Given the description of an element on the screen output the (x, y) to click on. 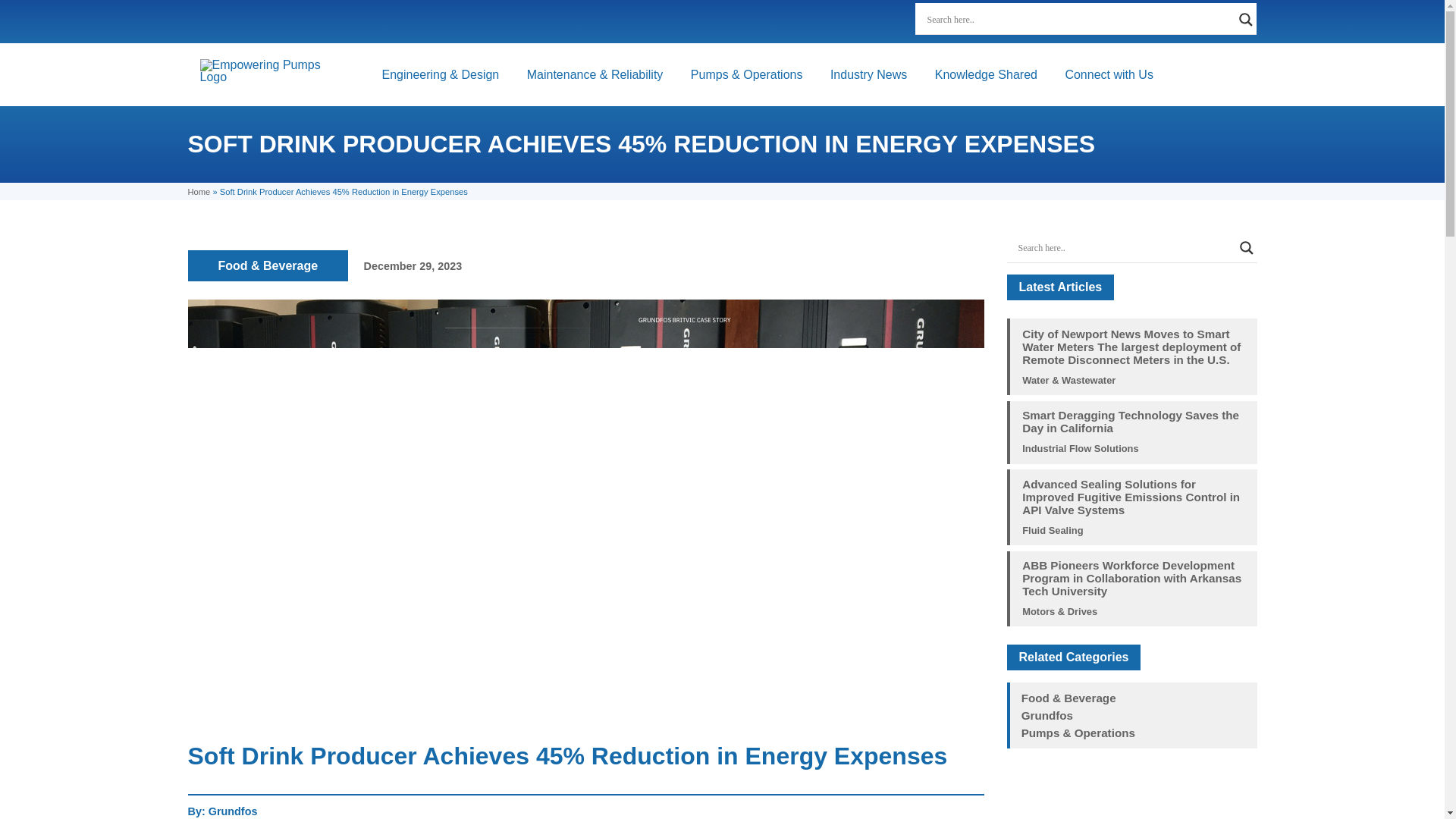
Instagram (754, 22)
LinkedIn (690, 22)
YouTube (786, 22)
Empowering Pumps on YouTube (786, 22)
Empowering Pumps (267, 71)
Industry News (868, 73)
Twitter (722, 22)
Connect with Us (1109, 73)
Empowering Pumps on Twitter (722, 22)
Smart Deragging Technology Saves the Day in California (1133, 421)
